Given the description of an element on the screen output the (x, y) to click on. 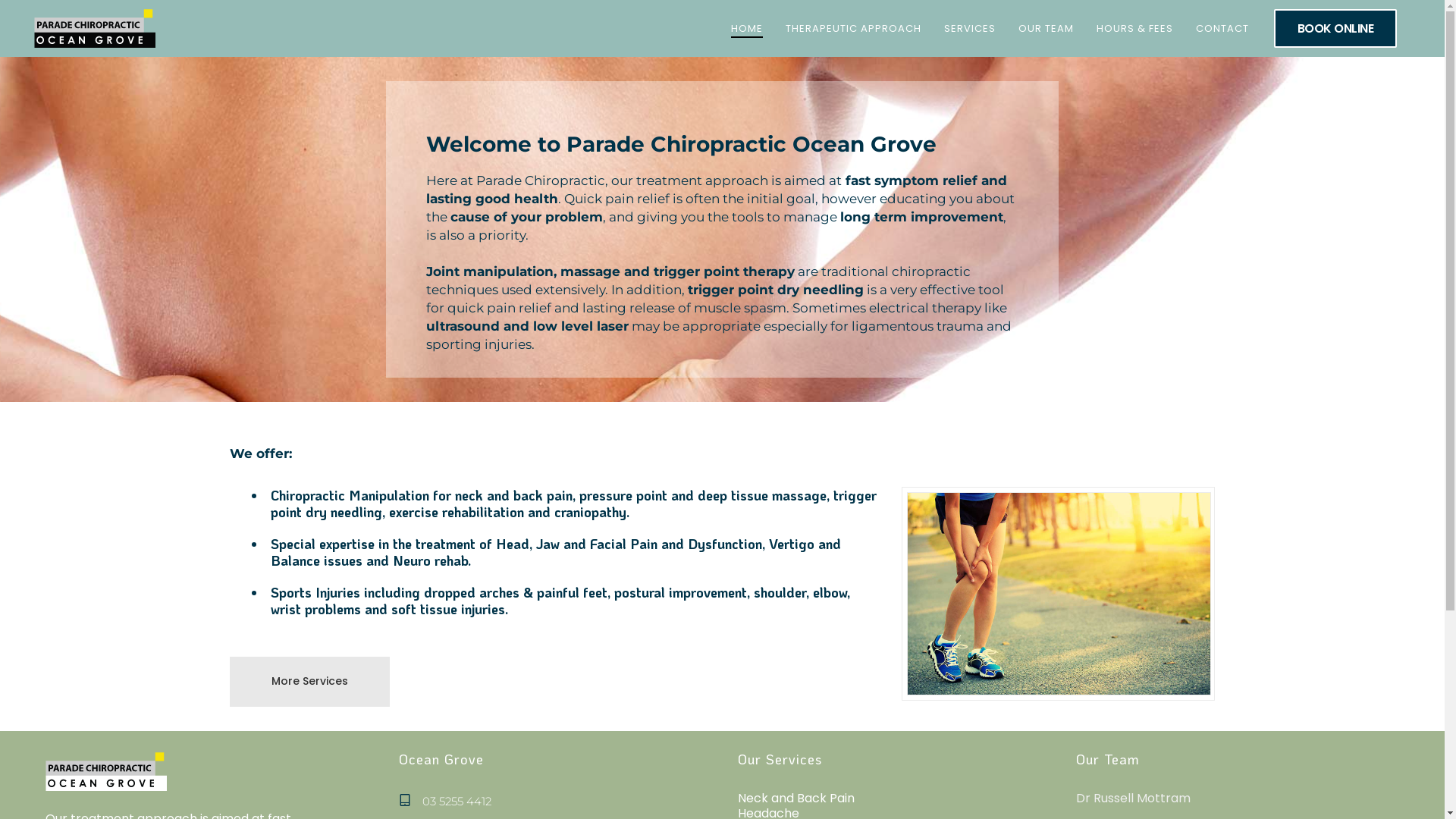
THERAPEUTIC APPROACH Element type: text (852, 28)
BOOK ONLINE Element type: text (1335, 28)
HOURS & FEES Element type: text (1133, 28)
Dr Russell Mottram Element type: text (1133, 797)
SERVICES Element type: text (969, 28)
OUR TEAM Element type: text (1046, 28)
CONTACT Element type: text (1222, 28)
HOME Element type: text (745, 28)
More Services Element type: text (309, 681)
